Given the description of an element on the screen output the (x, y) to click on. 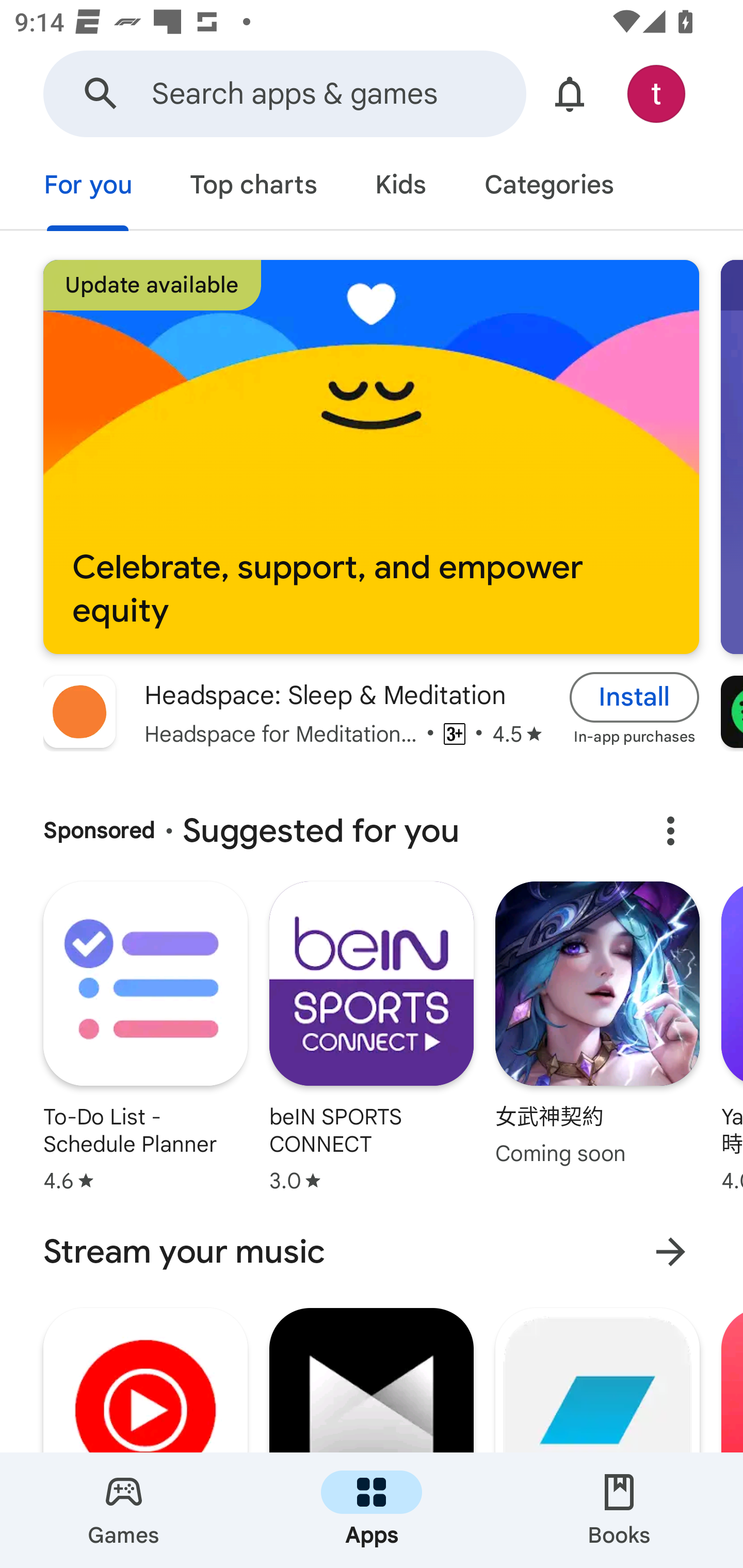
Search Google Play Search apps & games (284, 93)
Search Google Play (100, 93)
Show notifications and offers. (569, 93)
Top charts (253, 187)
Kids (400, 187)
Categories (548, 187)
Install (634, 696)
About this ad (670, 830)
To-Do List - Schedule Planner
Star rating: 4.6
 (145, 1038)
beIN SPORTS CONNECT
Star rating: 3.0
 (371, 1038)
女武神契約
Coming soon
 (597, 1025)
More results for Stream your music (670, 1251)
Games (123, 1509)
Books (619, 1509)
